Given the description of an element on the screen output the (x, y) to click on. 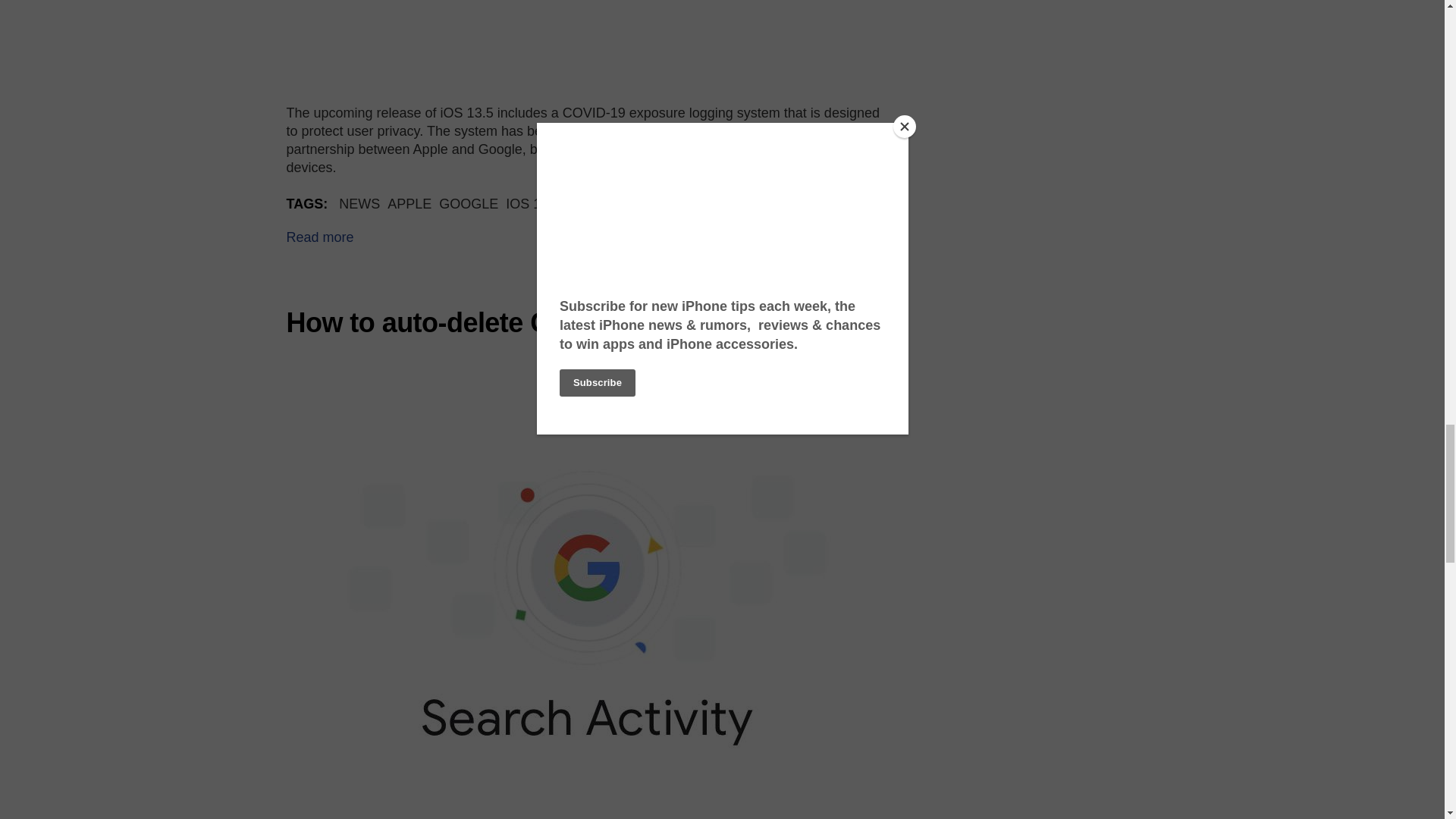
Health app gets COVID-19 contact tracing on iPhone (319, 237)
GOOGLE (468, 203)
IOS 13.5 (532, 203)
APPLE (408, 203)
Apple Google partnership (587, 40)
previously announced (764, 130)
How to auto-delete Google app data on iPhone (579, 322)
CORONAVIRUS (617, 203)
NEWS (359, 203)
